Given the description of an element on the screen output the (x, y) to click on. 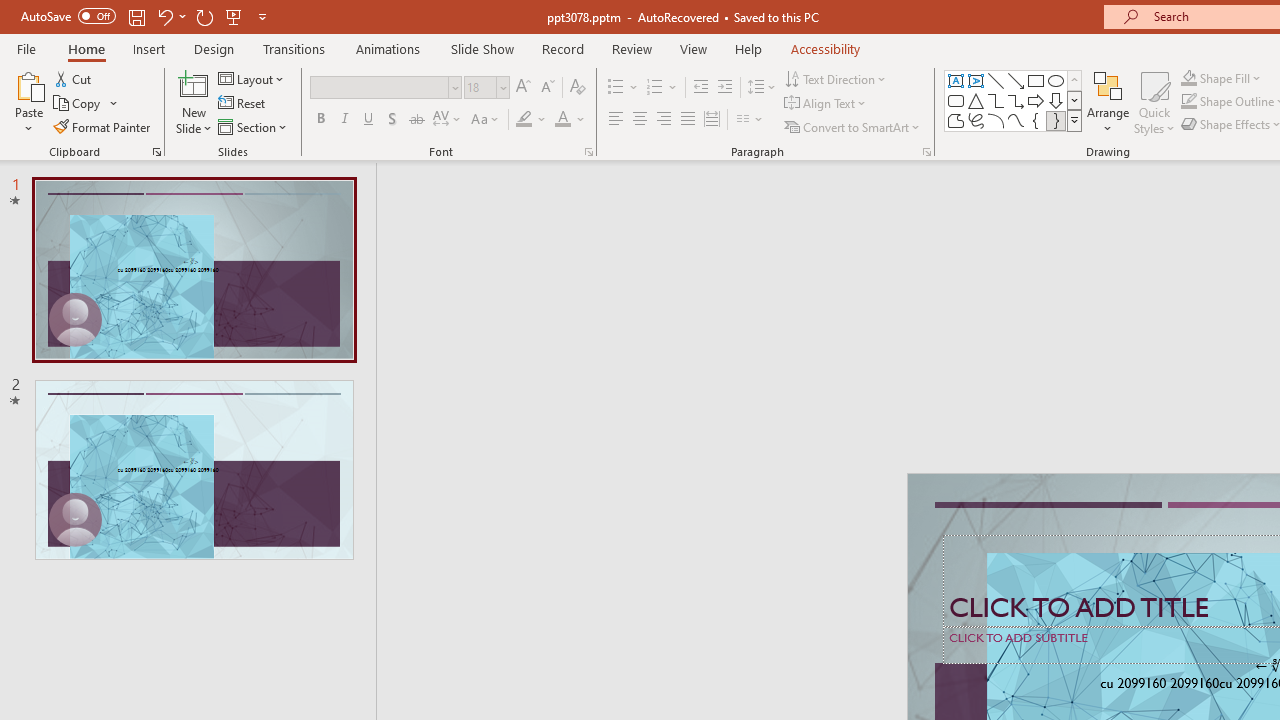
Numbering (661, 87)
Columns (750, 119)
Arc (995, 120)
Numbering (654, 87)
Slide (194, 469)
Shadow (392, 119)
Text Direction (836, 78)
Align Text (826, 103)
Left Brace (1035, 120)
